Given the description of an element on the screen output the (x, y) to click on. 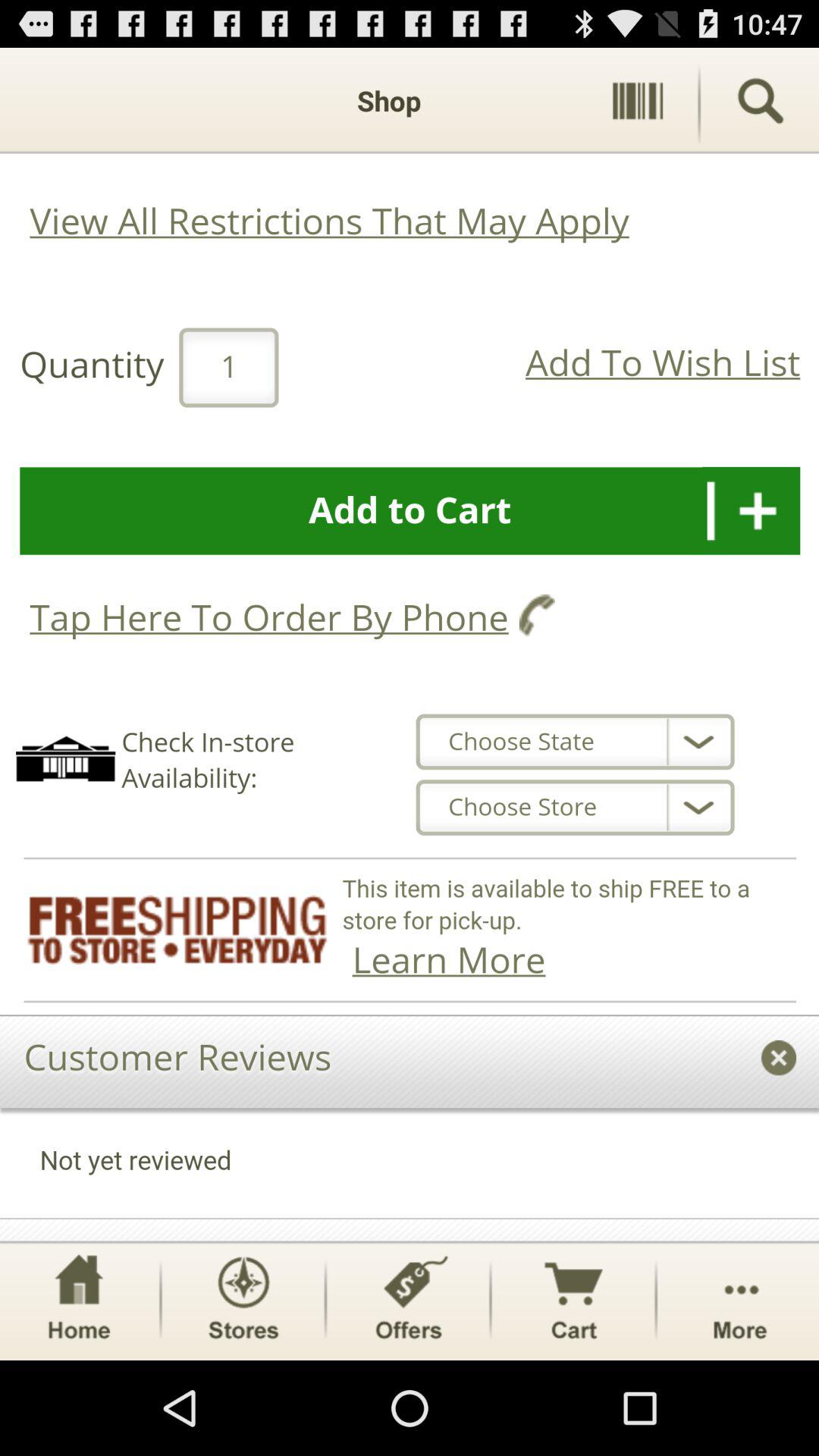
entire clickable area (409, 644)
